Given the description of an element on the screen output the (x, y) to click on. 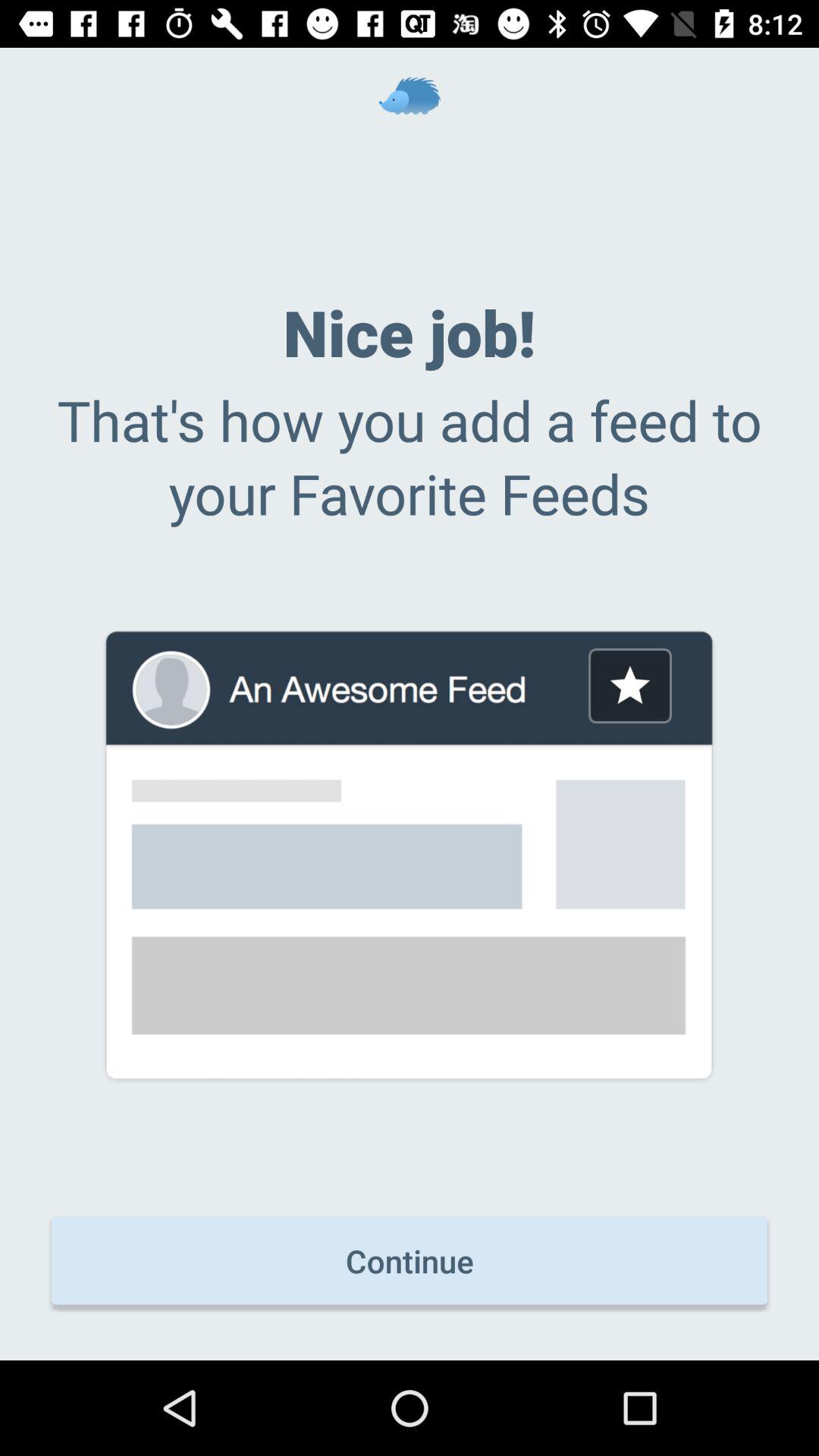
choose the continue icon (409, 1260)
